Given the description of an element on the screen output the (x, y) to click on. 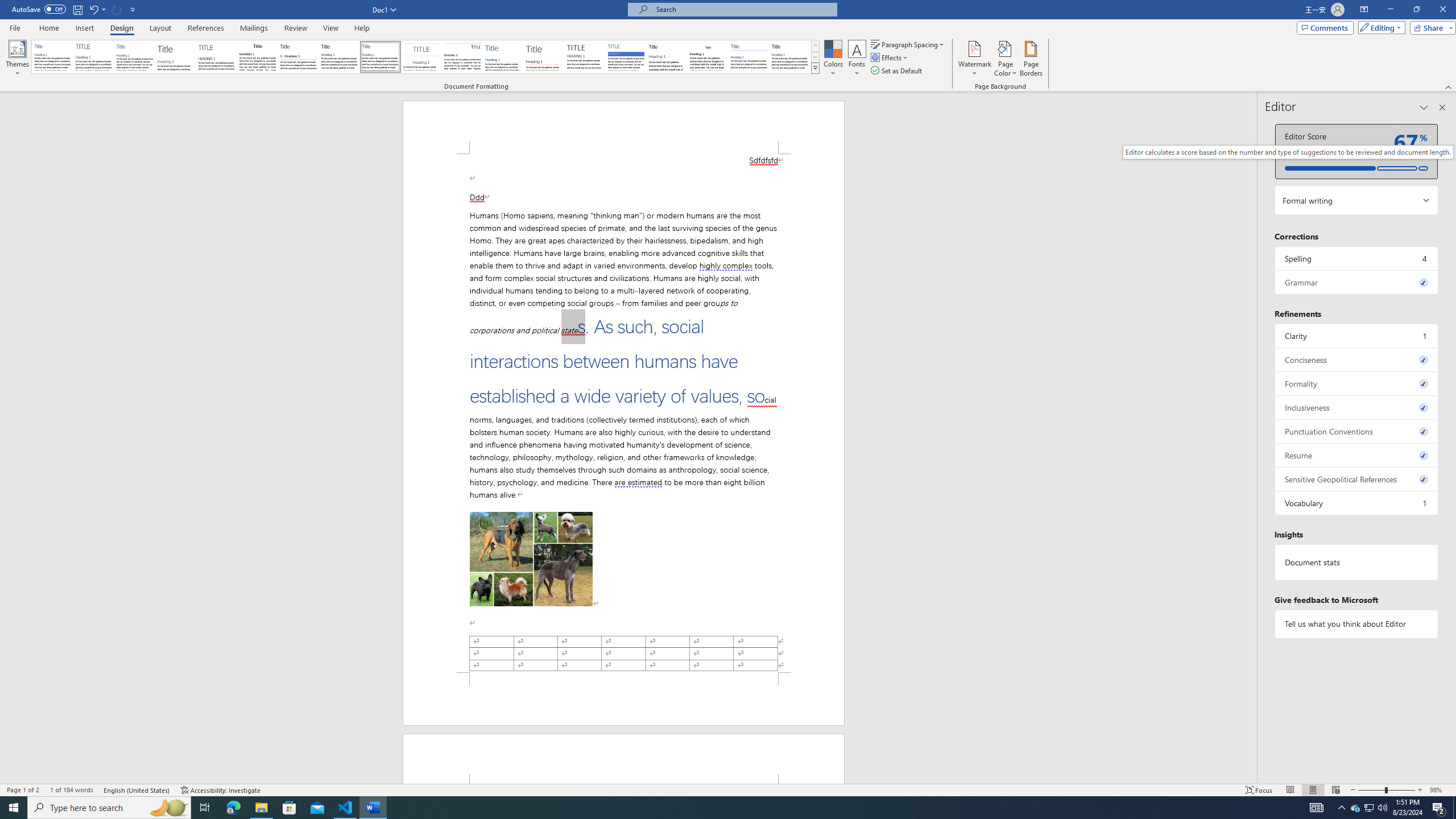
Colors (832, 58)
Effects (890, 56)
Formality, 0 issues. Press space or enter to review items. (1356, 383)
Spelling, 4 issues. Press space or enter to review items. (1356, 258)
Black & White (Word 2013) (338, 56)
